Given the description of an element on the screen output the (x, y) to click on. 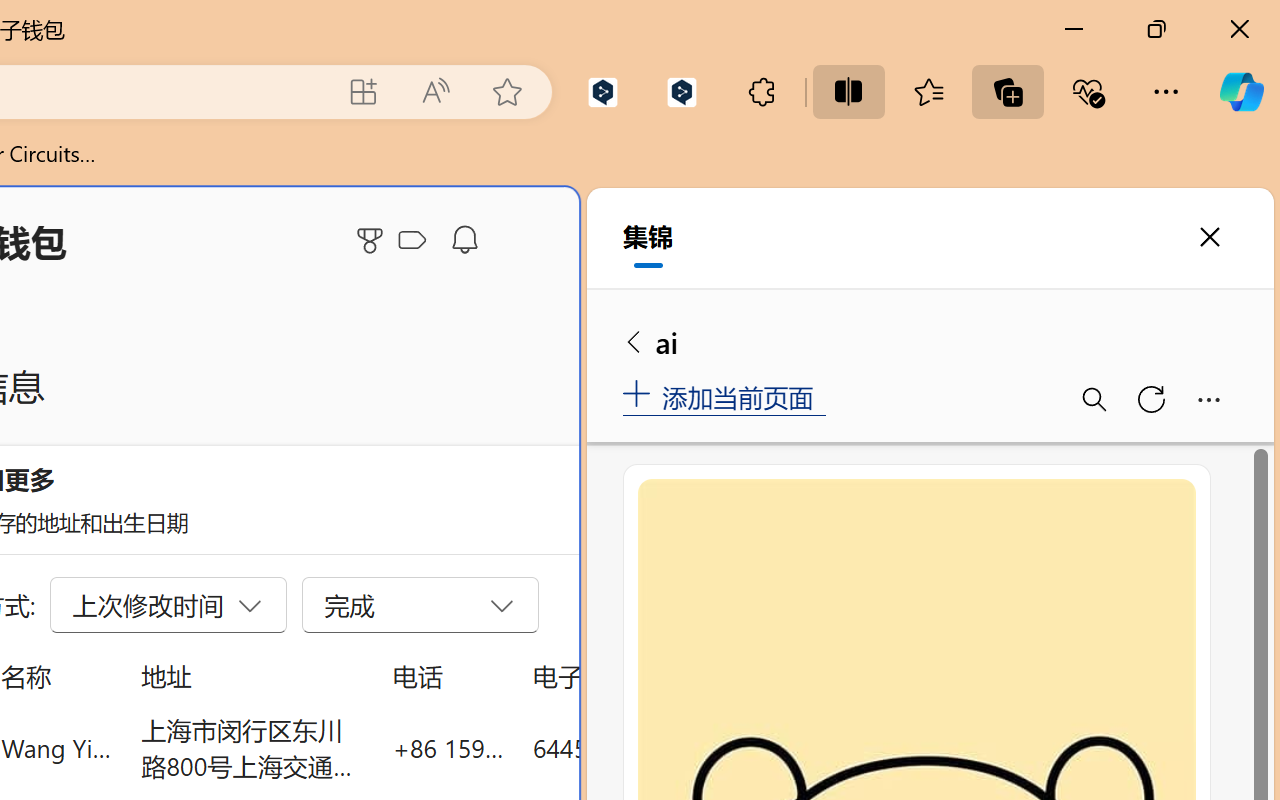
Microsoft Cashback (415, 241)
Microsoft Rewards (373, 240)
644553698@qq.com (644, 747)
Copilot (Ctrl+Shift+.) (1241, 91)
